Given the description of an element on the screen output the (x, y) to click on. 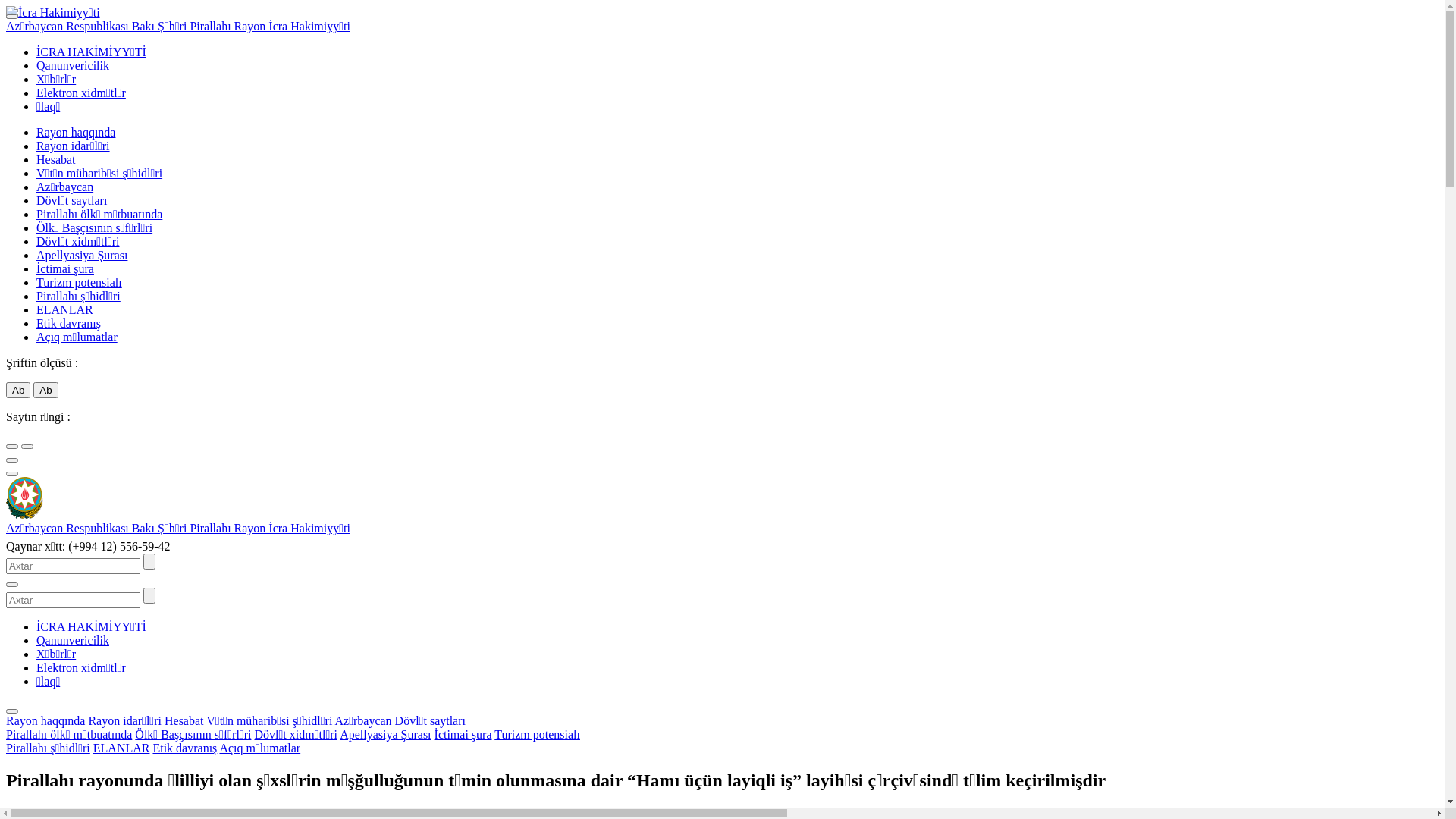
ELANLAR Element type: text (64, 309)
Qanunvericilik Element type: text (72, 65)
Ab Element type: text (18, 390)
ELANLAR Element type: text (121, 747)
Ab Element type: text (45, 390)
Hesabat Element type: text (55, 159)
Qanunvericilik Element type: text (72, 639)
Hesabat Element type: text (183, 720)
